Given the description of an element on the screen output the (x, y) to click on. 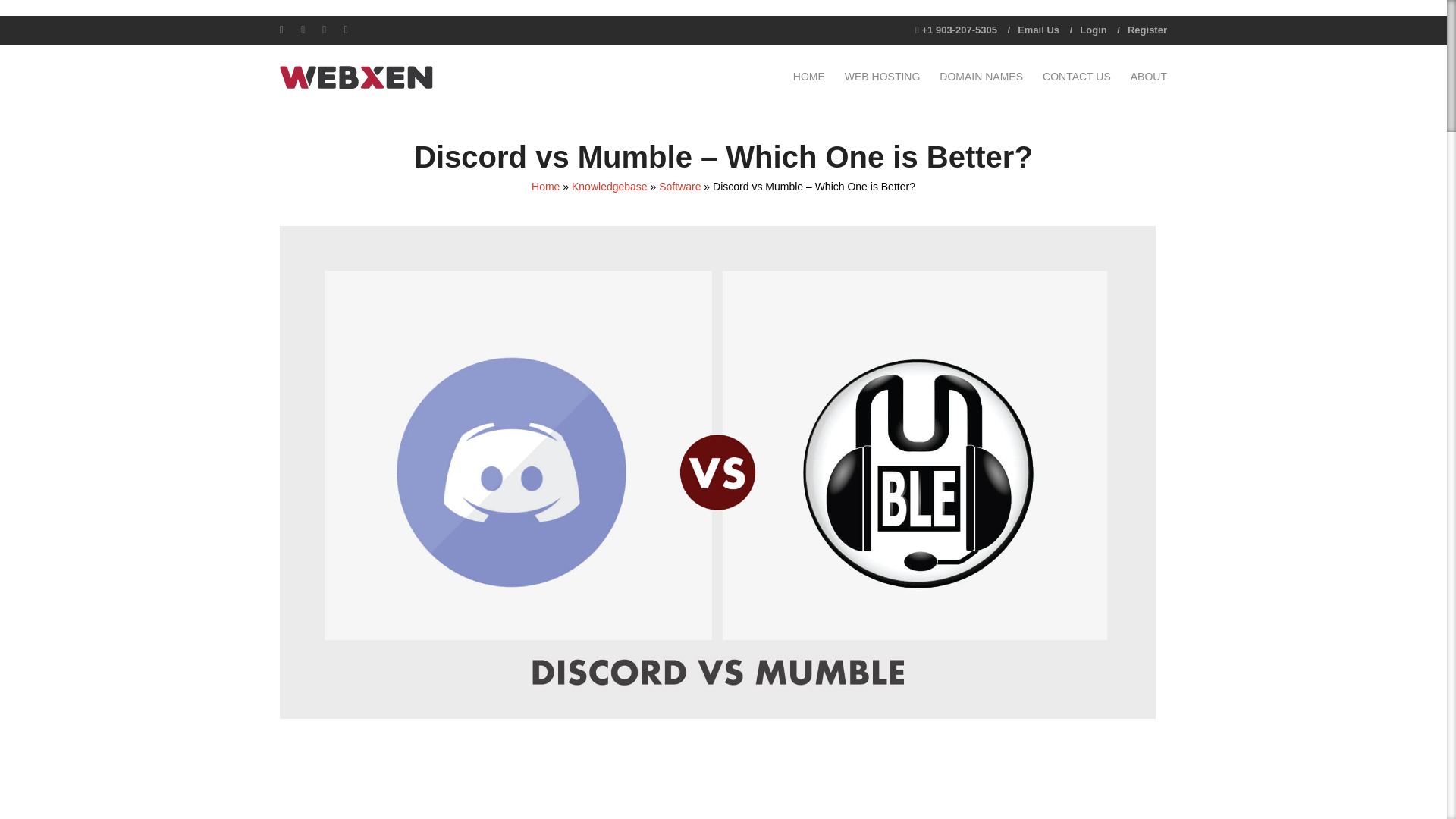
Knowledgebase (609, 186)
HOME (808, 76)
WEB HOSTING (882, 76)
Advertisement (717, 776)
Software (679, 186)
Email Us (1038, 30)
Home (545, 186)
CONTACT US (1076, 76)
DOMAIN NAMES (981, 76)
Login (1093, 30)
Register (1146, 30)
